Given the description of an element on the screen output the (x, y) to click on. 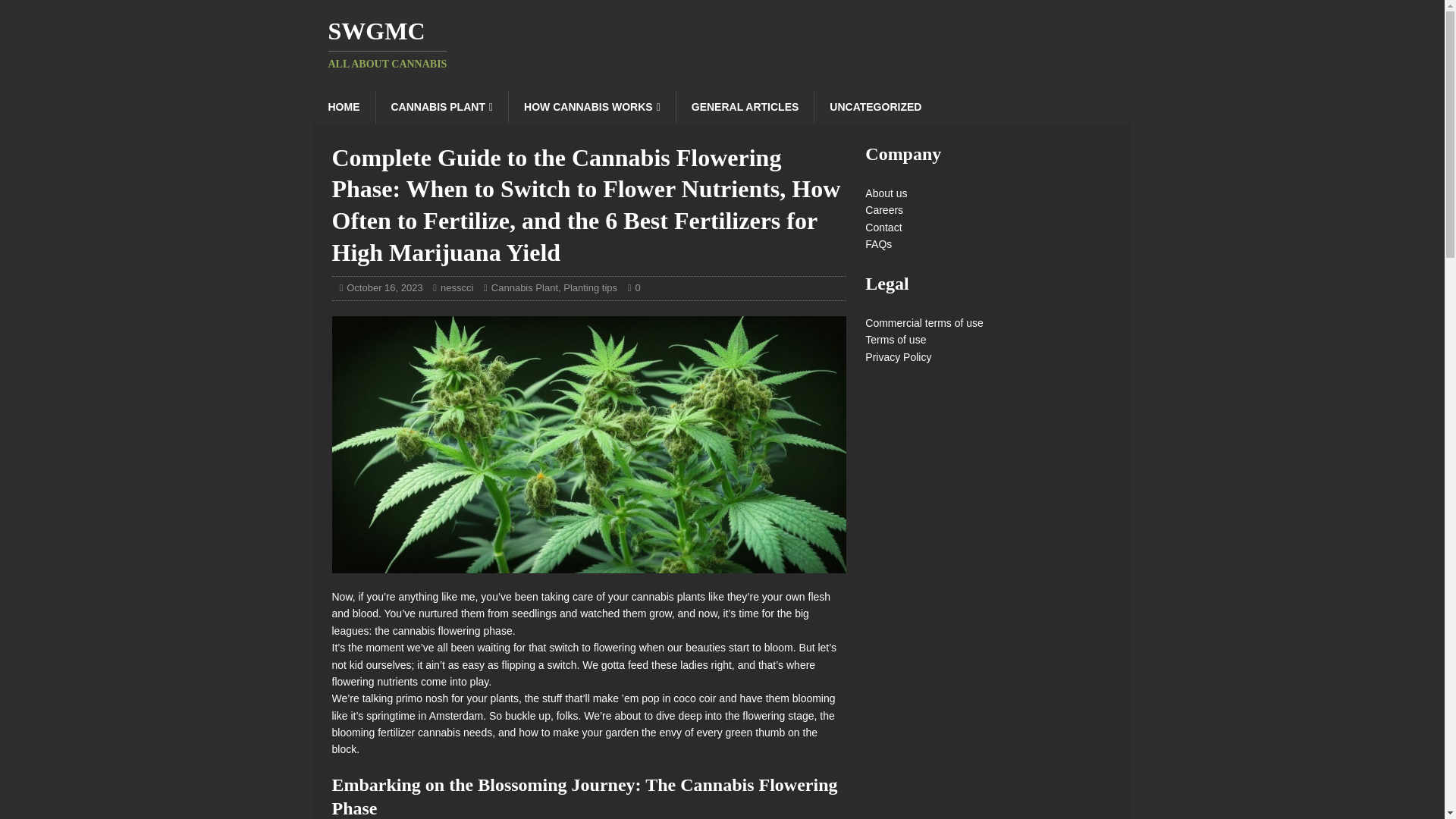
Careers (883, 209)
October 16, 2023 (384, 287)
Cannabis Plant (524, 287)
Commercial terms of use (924, 322)
FAQs (721, 43)
swgmc (877, 244)
HOME (721, 43)
nesscci (343, 106)
About us (457, 287)
CANNABIS PLANT (885, 193)
Contact (441, 106)
UNCATEGORIZED (882, 227)
GENERAL ARTICLES (874, 106)
HOW CANNABIS WORKS (744, 106)
